Given the description of an element on the screen output the (x, y) to click on. 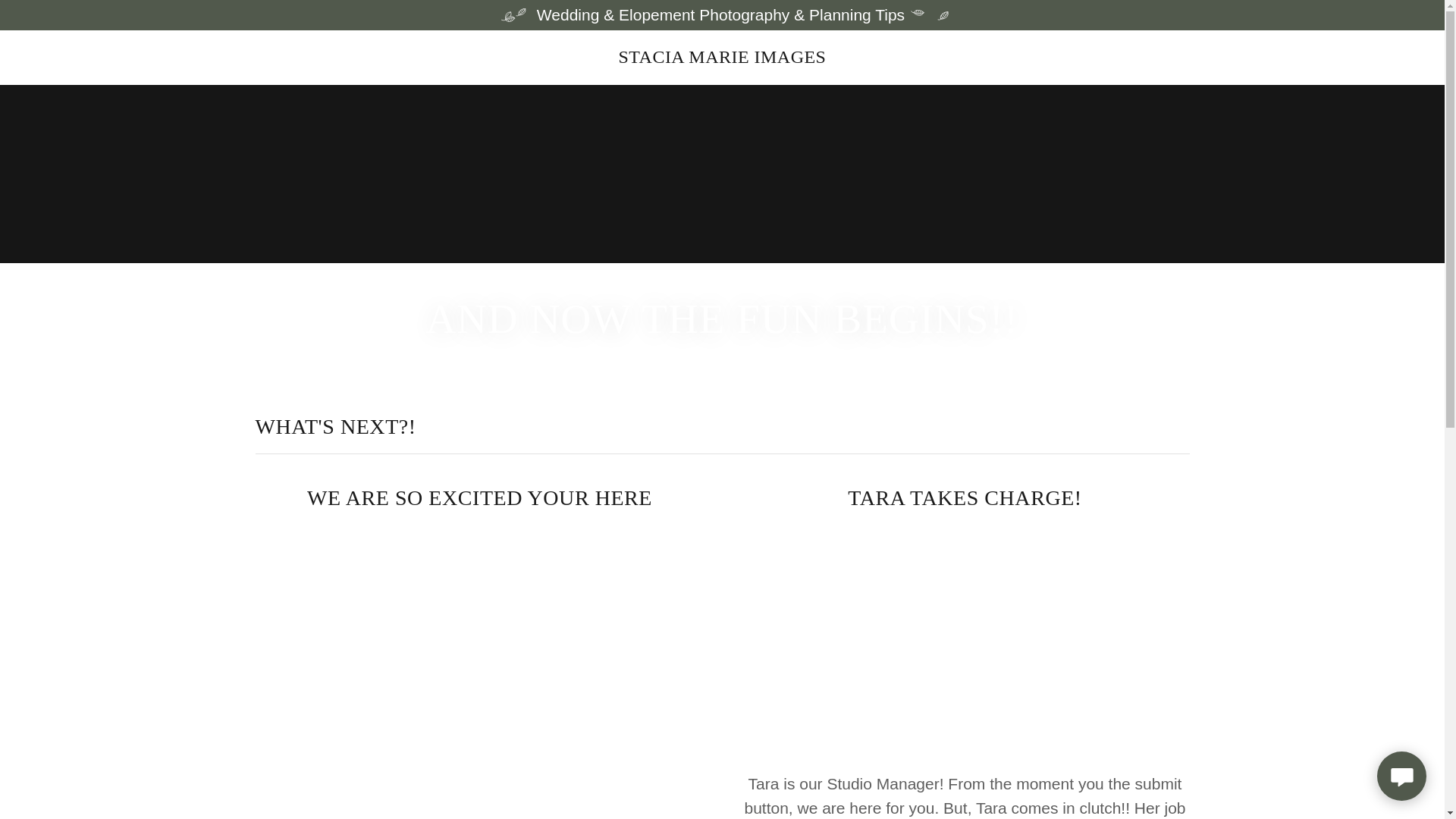
Stacia Marie Images  (721, 57)
STACIA MARIE IMAGES (721, 57)
